Given the description of an element on the screen output the (x, y) to click on. 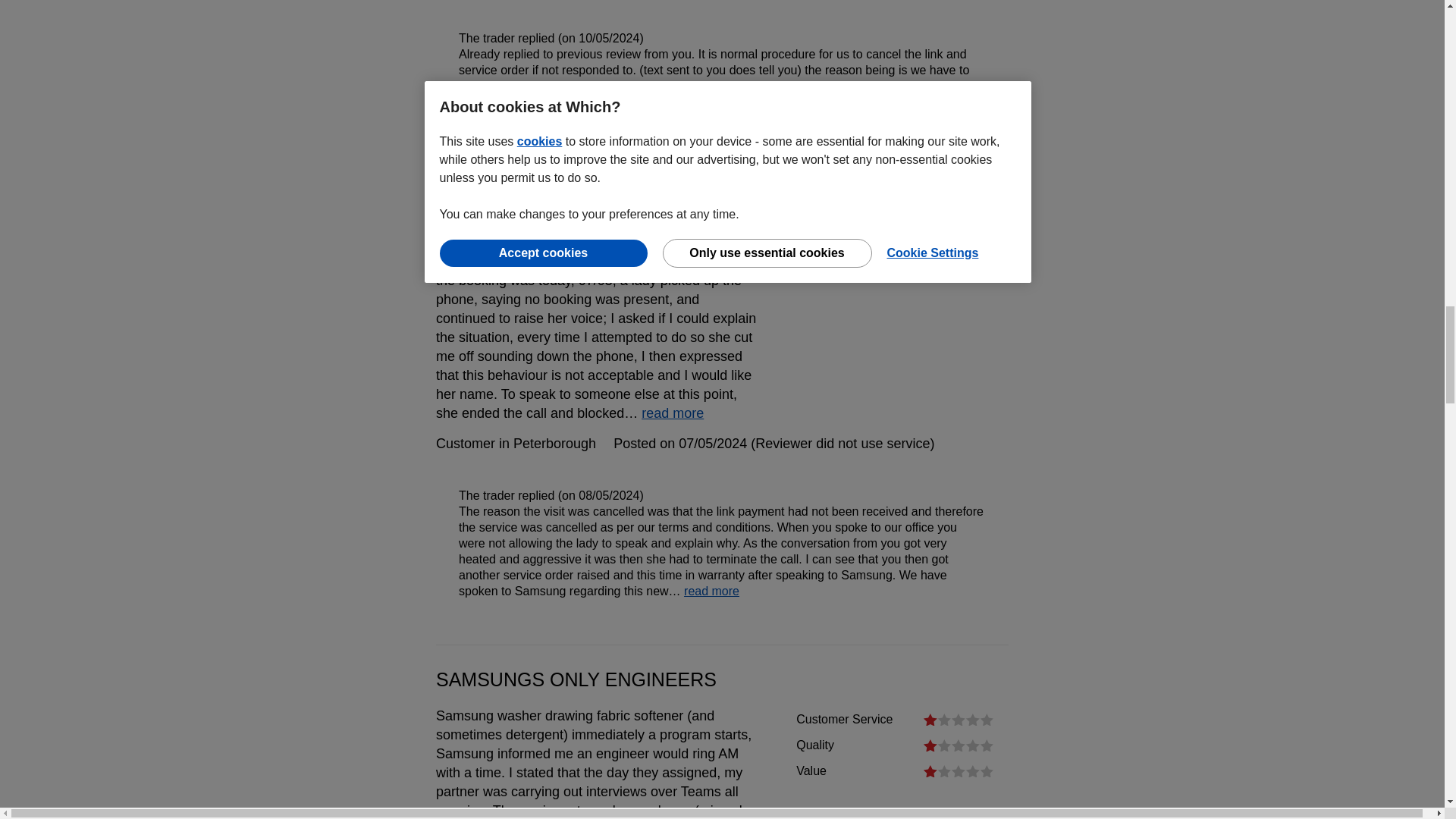
1 (957, 745)
1 (957, 770)
1 (957, 719)
